Given the description of an element on the screen output the (x, y) to click on. 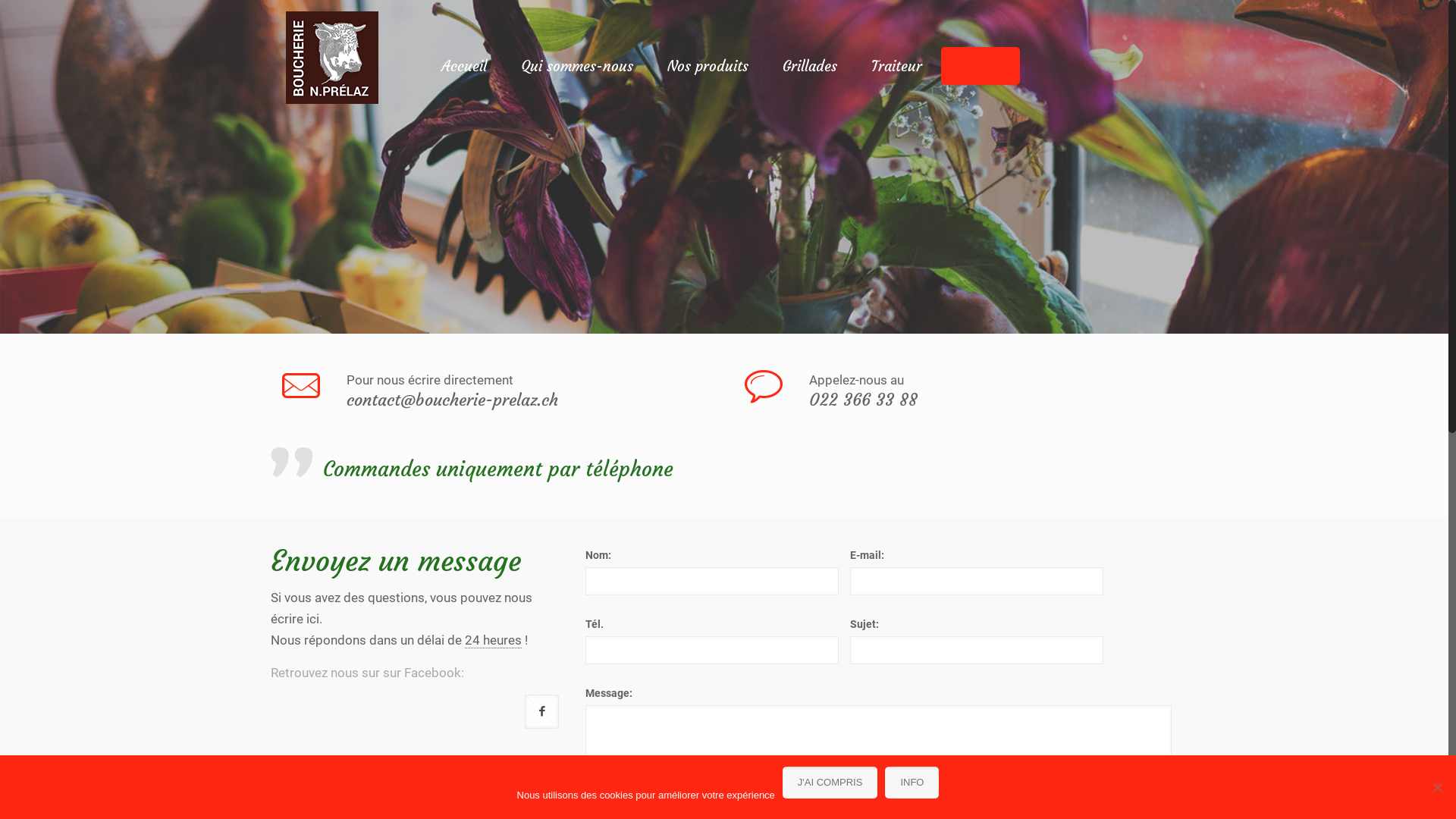
Accueil Element type: text (464, 65)
INFO Element type: text (911, 782)
No Element type: hover (1436, 786)
contact@boucherie-prelaz.ch Element type: text (452, 399)
Qui sommes-nous Element type: text (577, 65)
Nos produits Element type: text (708, 65)
Grillades Element type: text (810, 65)
J'AI COMPRIS Element type: text (830, 782)
Traiteur Element type: text (897, 65)
Contact Element type: text (980, 65)
022 366 33 88 Element type: text (863, 399)
